Given the description of an element on the screen output the (x, y) to click on. 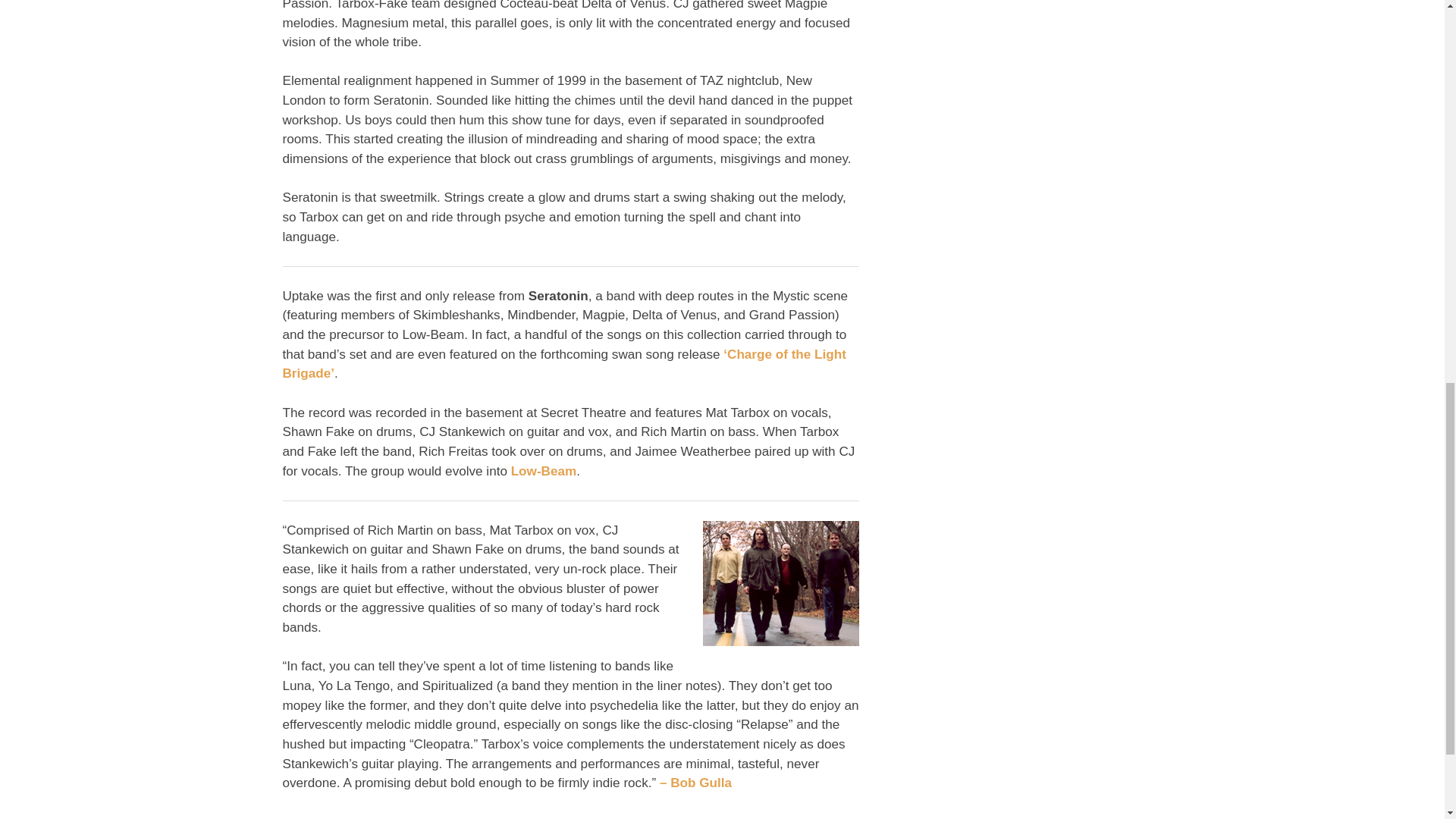
Charge of the Light Brigade (563, 364)
Charge of the Light Brigade (543, 471)
Seratonin by Gemma (780, 583)
Seratonin, Frown, and Ellyn Fleming (695, 782)
